Given the description of an element on the screen output the (x, y) to click on. 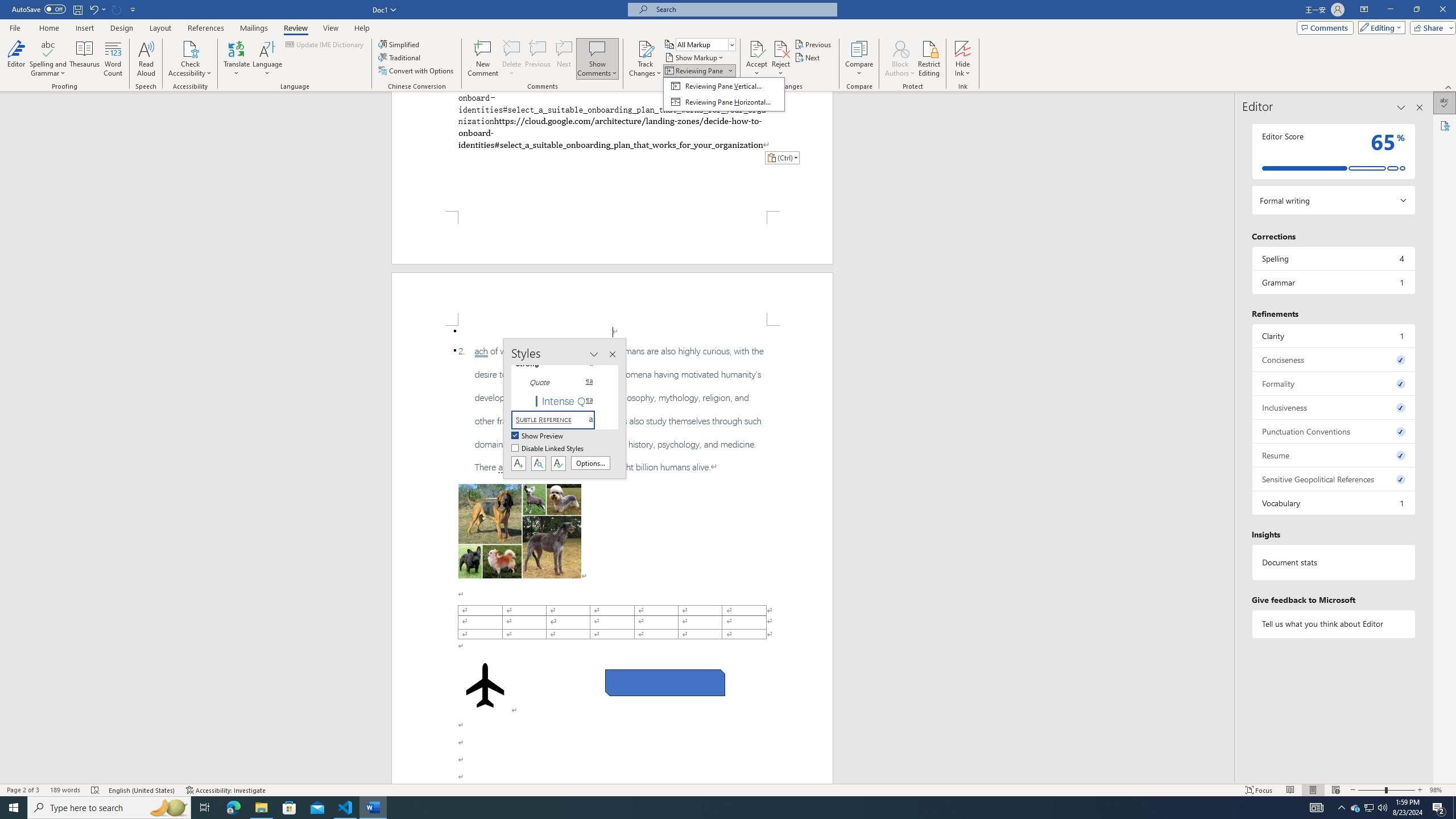
Hide Ink (962, 58)
Reviewing Pane (723, 93)
Track Changes (644, 58)
Show Preview (537, 436)
Microsoft Edge (233, 807)
Conciseness, 0 issues. Press space or enter to review items. (1333, 359)
Grammar, 1 issue. Press space or enter to review items. (1333, 282)
